Given the description of an element on the screen output the (x, y) to click on. 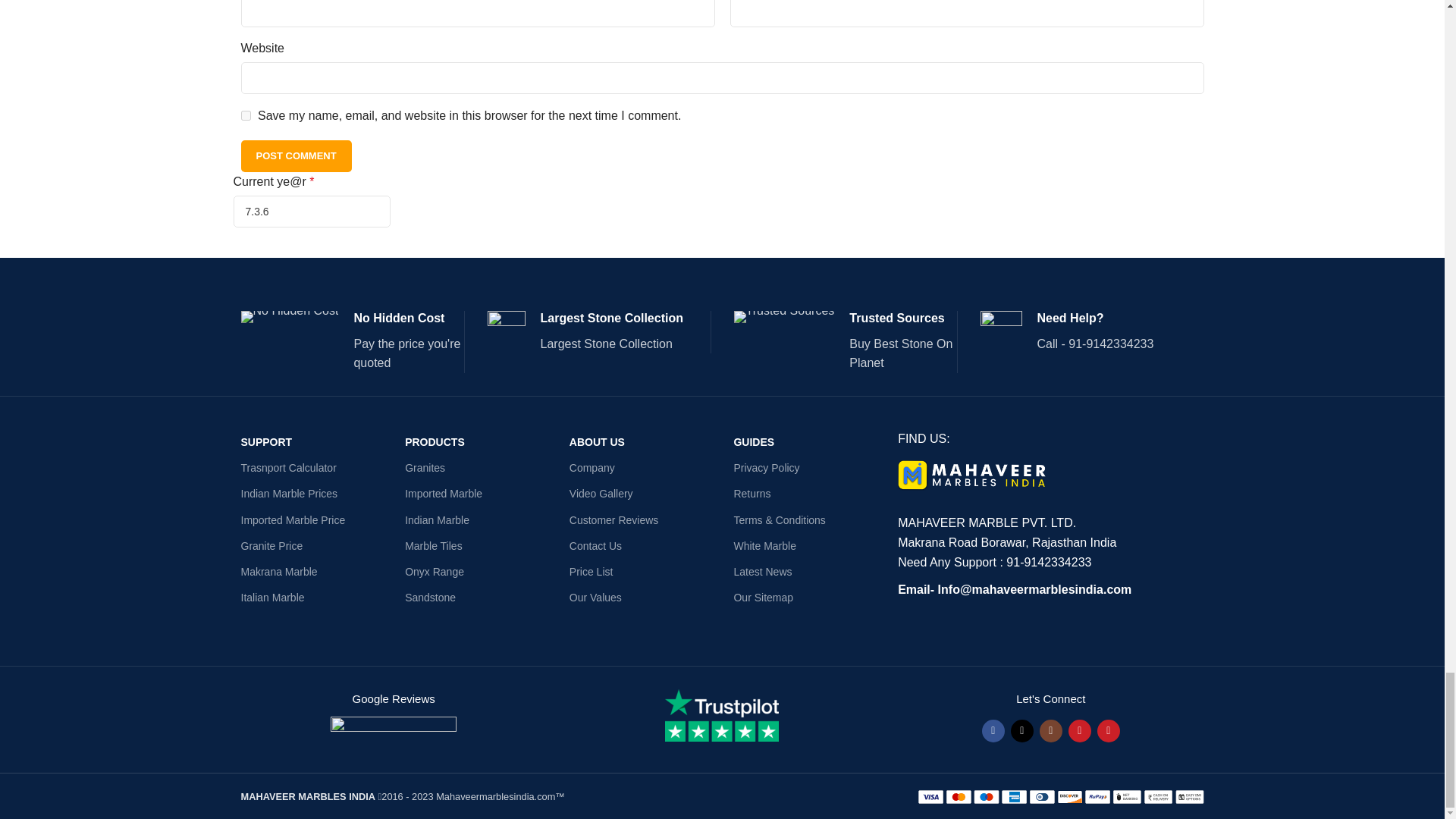
Post Comment (296, 155)
yes (245, 115)
7.3.6 (311, 211)
